Given the description of an element on the screen output the (x, y) to click on. 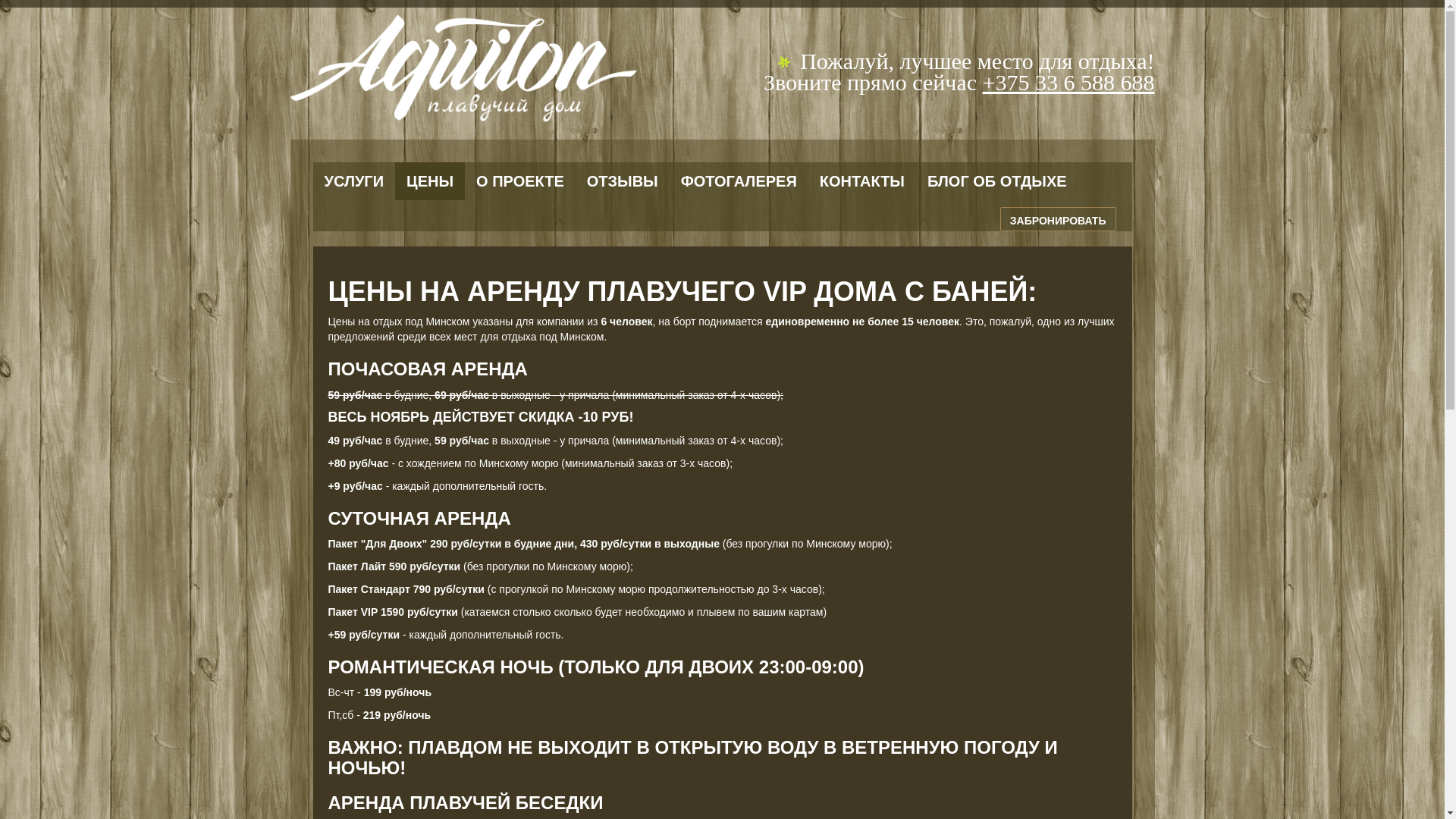
+375 33 6 588 688 Element type: text (1068, 81)
aquilon.by Element type: hover (463, 76)
